Given the description of an element on the screen output the (x, y) to click on. 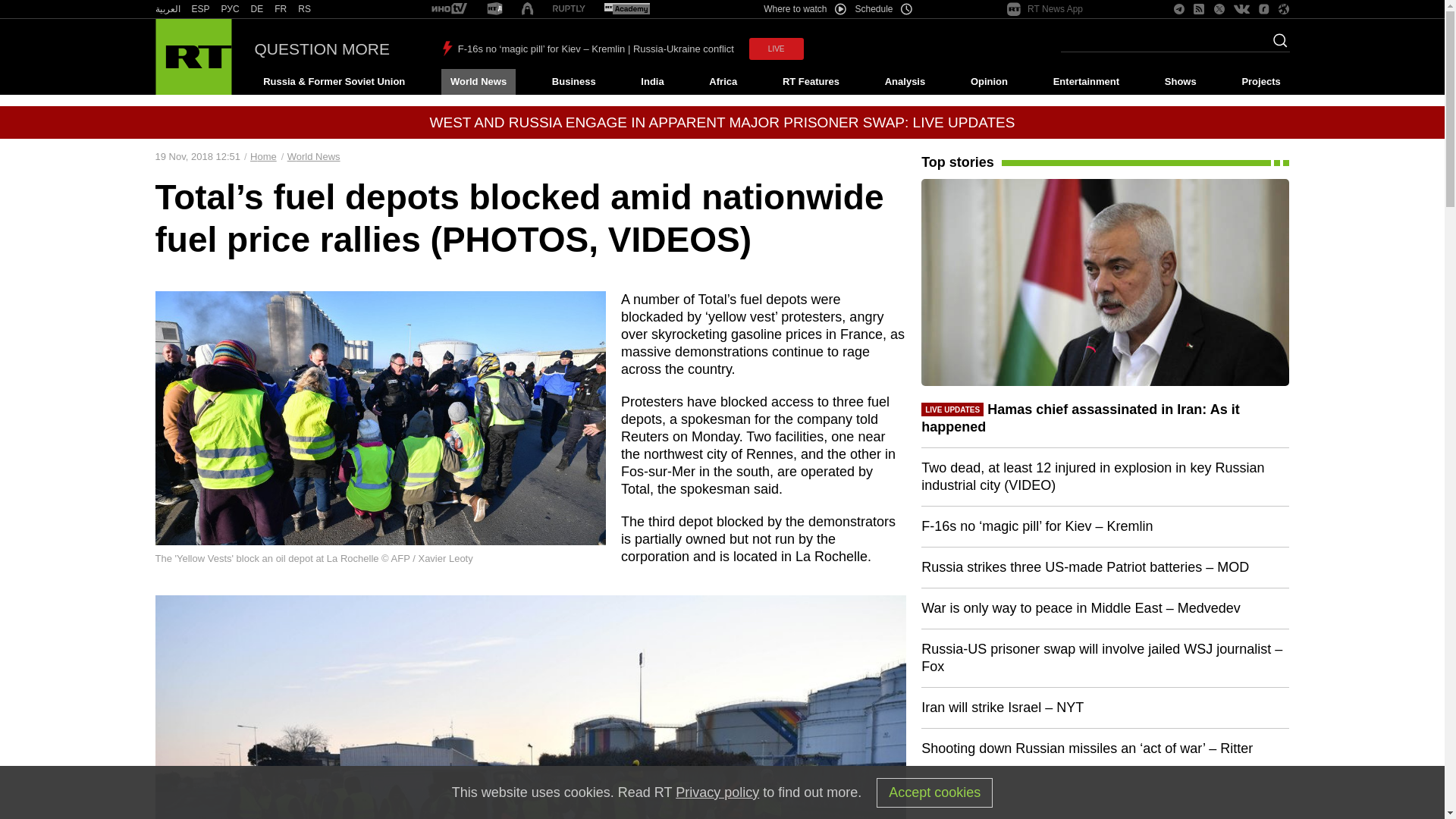
DE (256, 9)
RT  (569, 8)
RT Features (810, 81)
ESP (199, 9)
India (651, 81)
World News (478, 81)
Entertainment (1085, 81)
RT  (448, 9)
LIVE (776, 48)
RT  (256, 9)
Shows (1180, 81)
RT  (626, 9)
FR (280, 9)
RT  (199, 9)
RT  (304, 9)
